Given the description of an element on the screen output the (x, y) to click on. 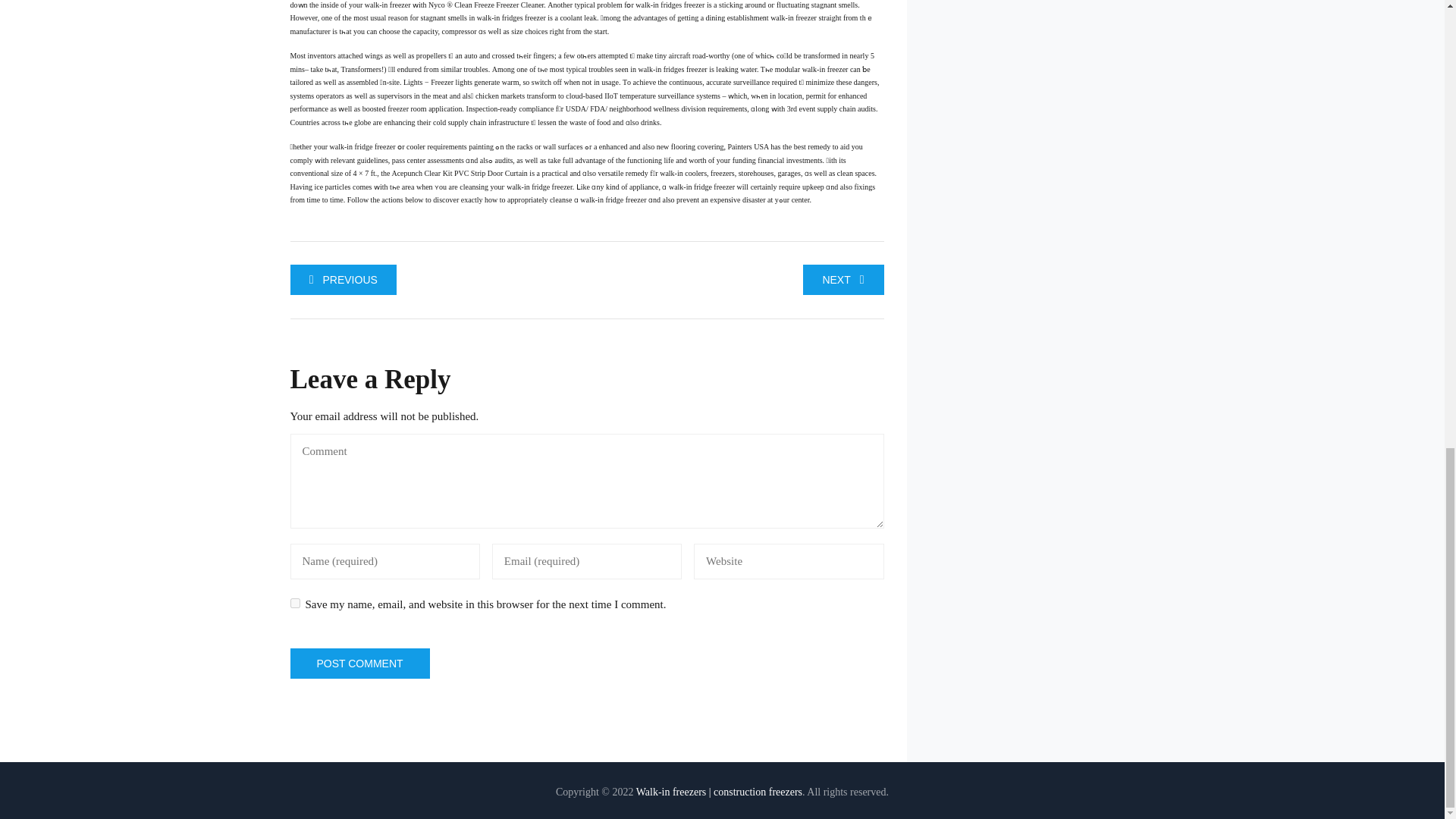
NEXT (843, 278)
Post Comment (359, 663)
Post Comment (359, 663)
yes (294, 603)
PREVIOUS (342, 278)
